Given the description of an element on the screen output the (x, y) to click on. 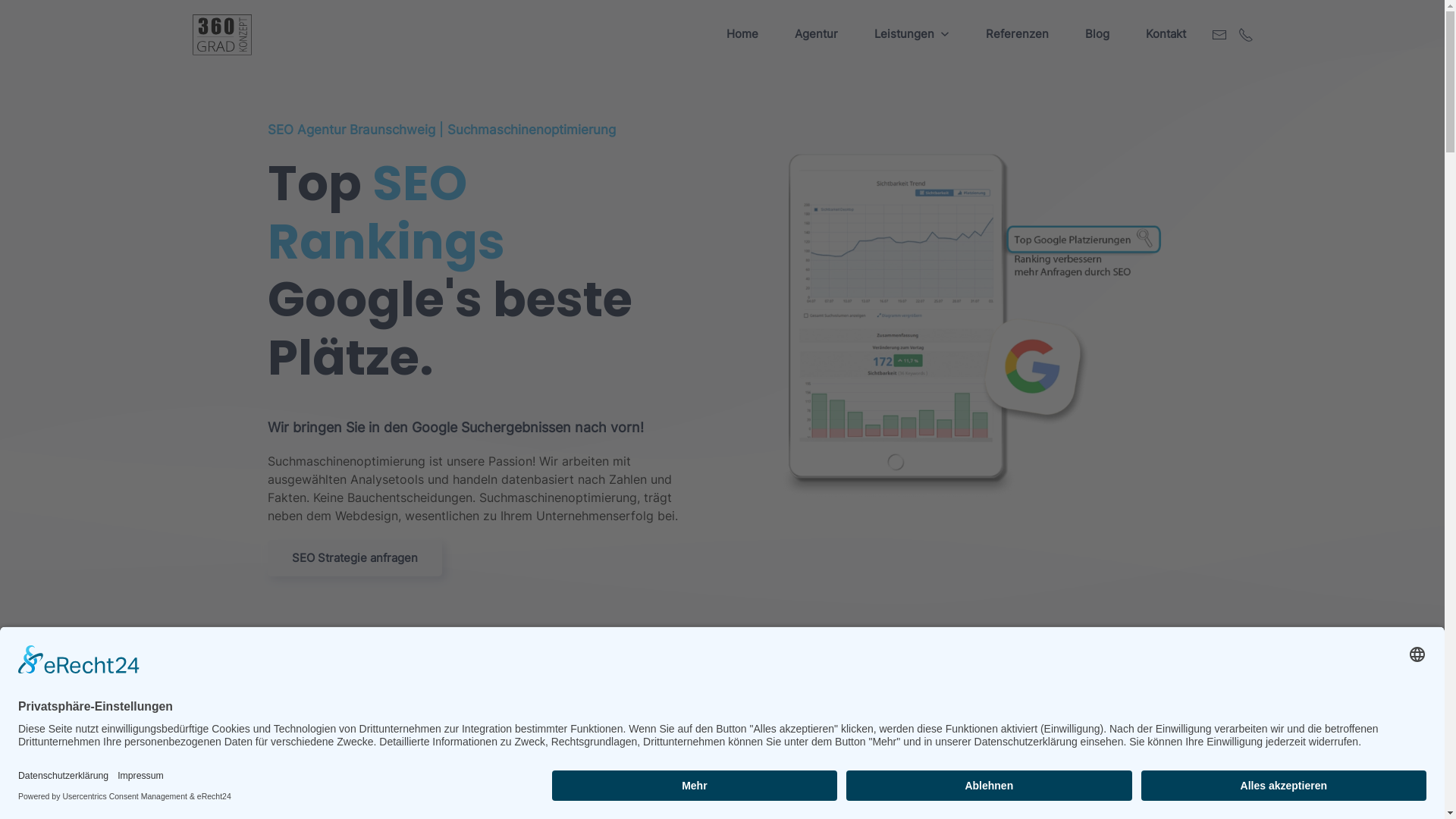
Blog Element type: text (1096, 34)
Referenzen Element type: text (1017, 34)
SEO Strategie anfragen Element type: text (353, 557)
Kontakt Element type: text (1164, 34)
Leistungen Element type: text (911, 34)
Agentur Element type: text (816, 34)
Home Element type: text (741, 34)
